Given the description of an element on the screen output the (x, y) to click on. 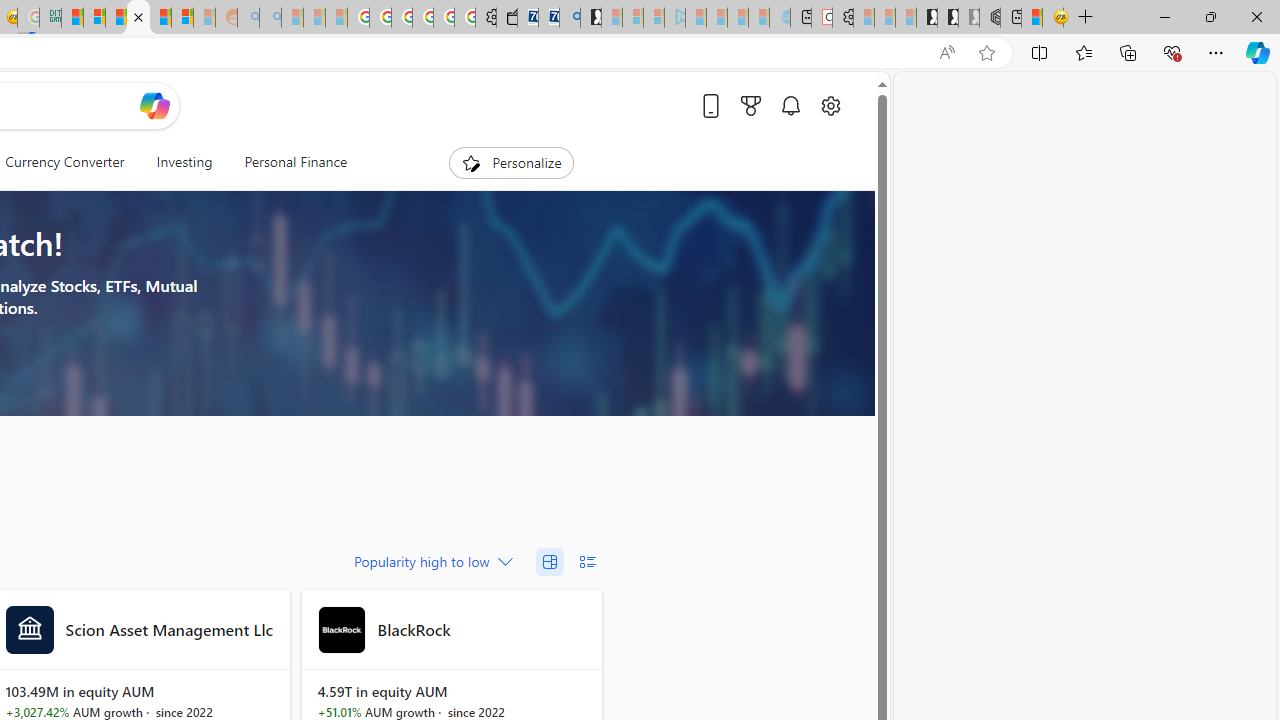
Investing (184, 162)
Kinda Frugal - MSN (160, 17)
